Given the description of an element on the screen output the (x, y) to click on. 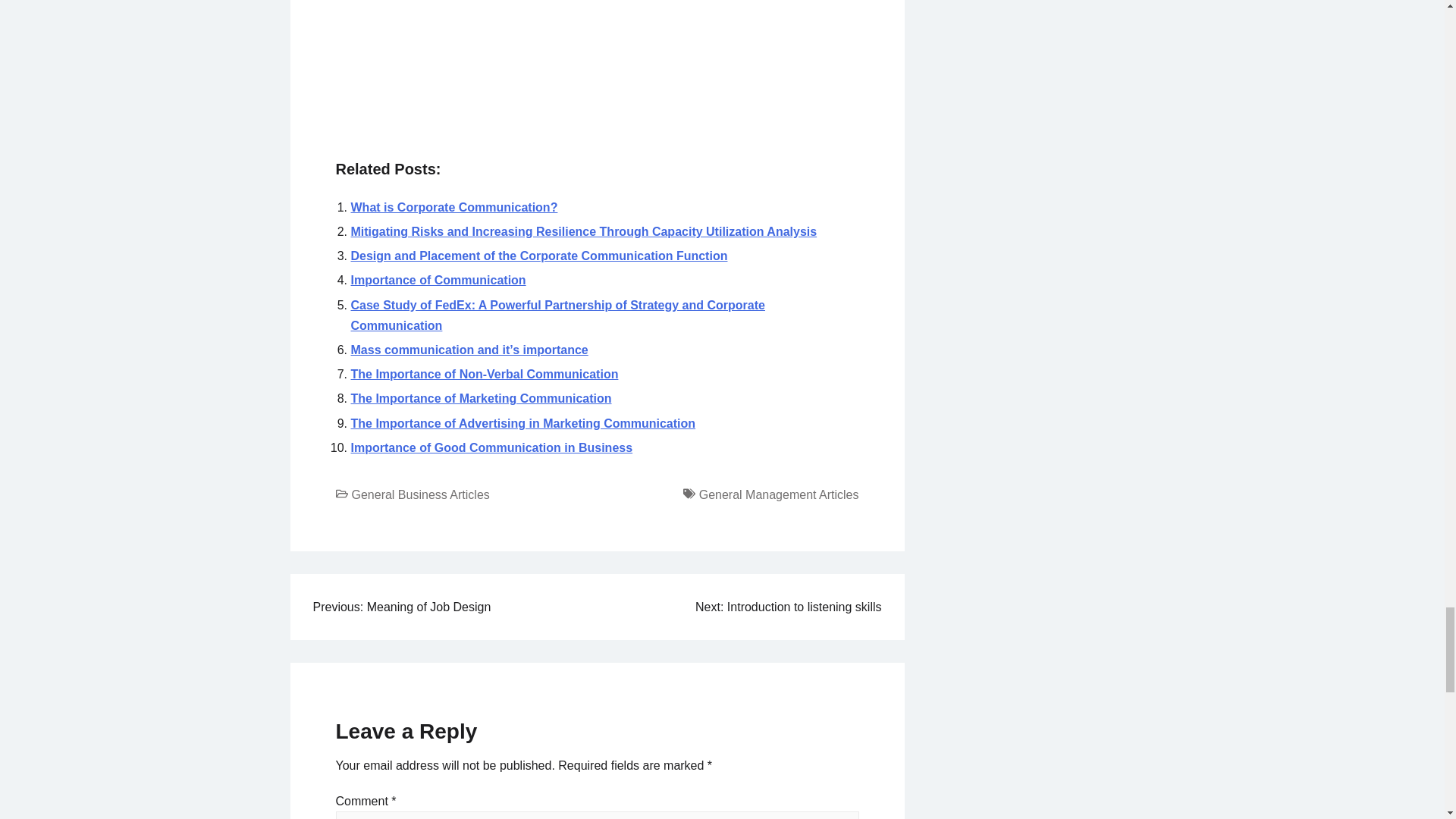
Importance of Good Communication in Business (490, 447)
Importance of Communication (437, 279)
The Importance of Non-Verbal Communication (483, 373)
The Importance of Marketing Communication (480, 398)
Design and Placement of the Corporate Communication Function (538, 255)
General Management Articles (778, 494)
What is Corporate Communication? (453, 206)
General Business Articles (420, 494)
Importance of Communication (437, 279)
Next: Introduction to listening skills (787, 606)
What is Corporate Communication? (453, 206)
